Given the description of an element on the screen output the (x, y) to click on. 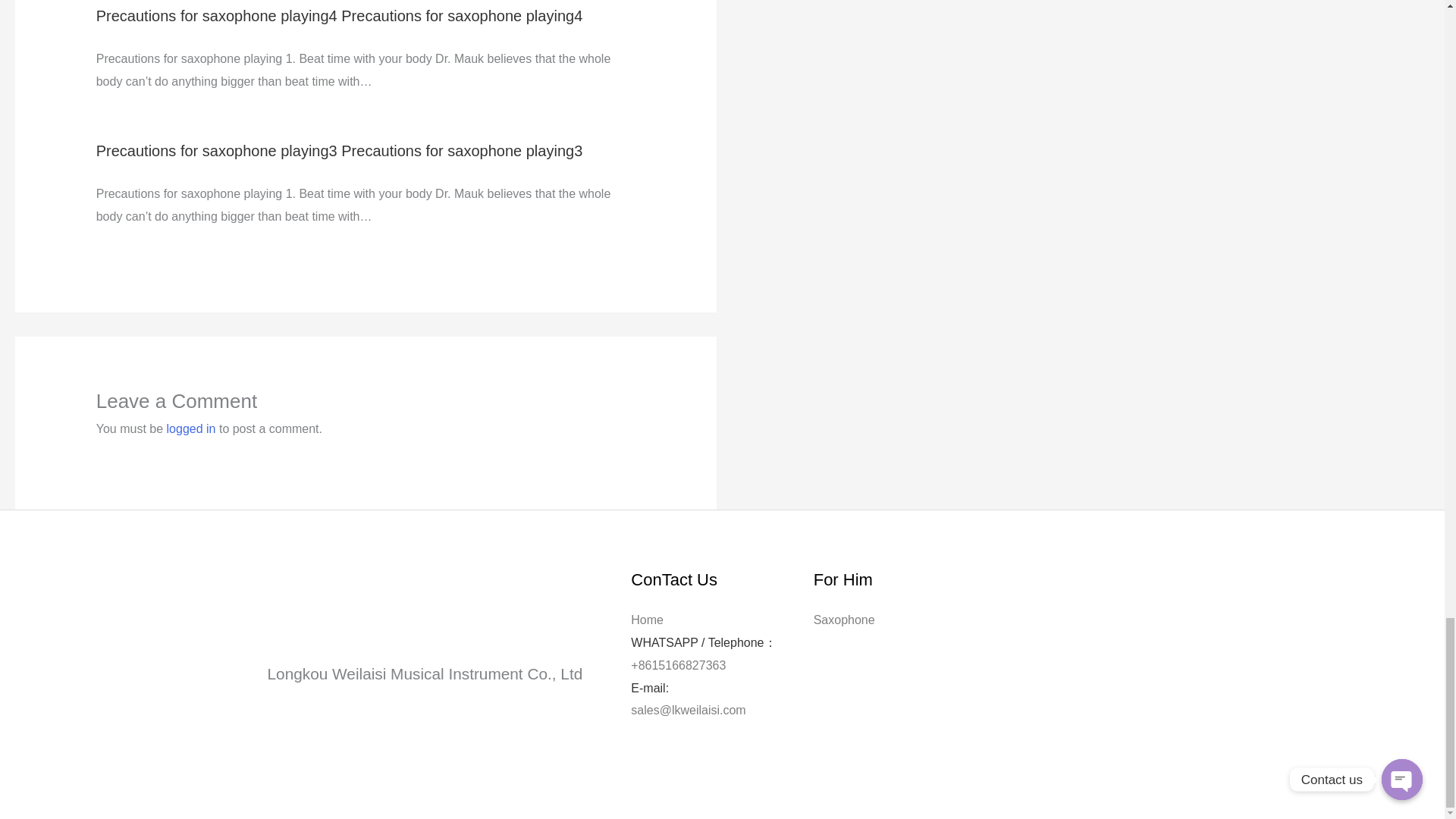
logged in (191, 428)
